Given the description of an element on the screen output the (x, y) to click on. 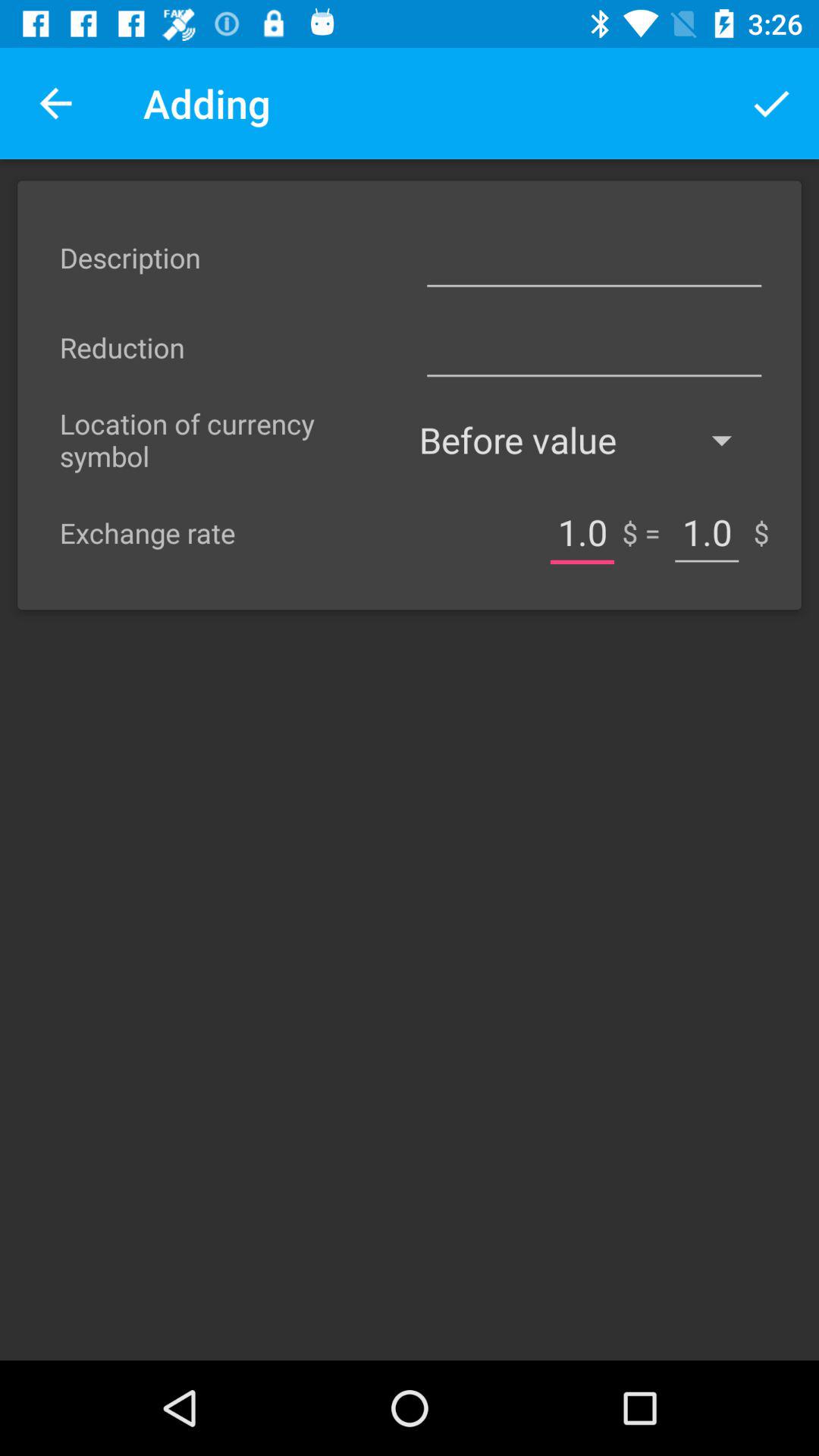
enter description (594, 257)
